Given the description of an element on the screen output the (x, y) to click on. 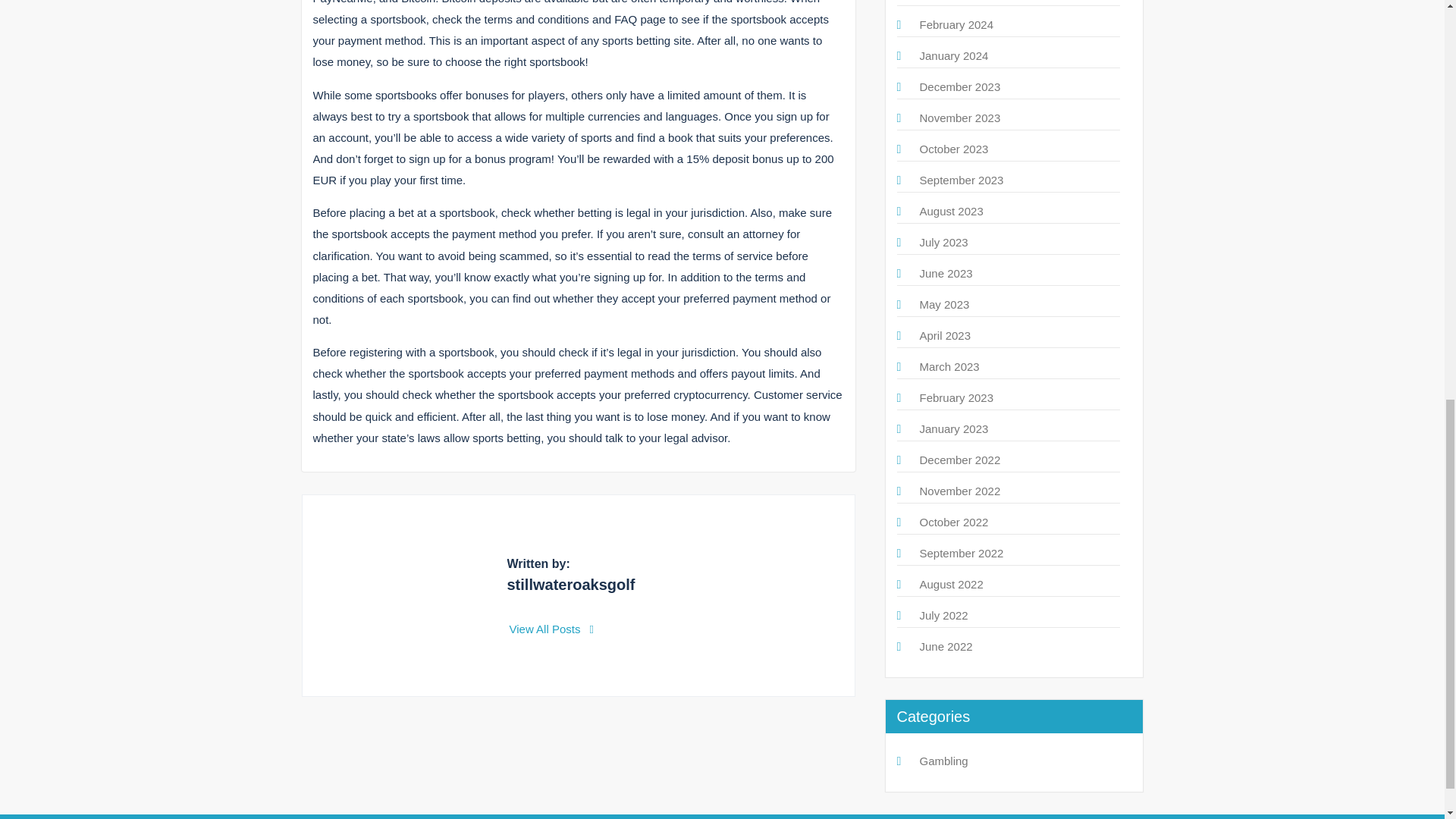
Gambling (943, 760)
September 2022 (960, 553)
January 2023 (953, 428)
August 2022 (950, 584)
December 2023 (959, 86)
July 2022 (943, 615)
January 2024 (953, 55)
October 2023 (953, 148)
September 2023 (960, 179)
October 2022 (953, 521)
